Given the description of an element on the screen output the (x, y) to click on. 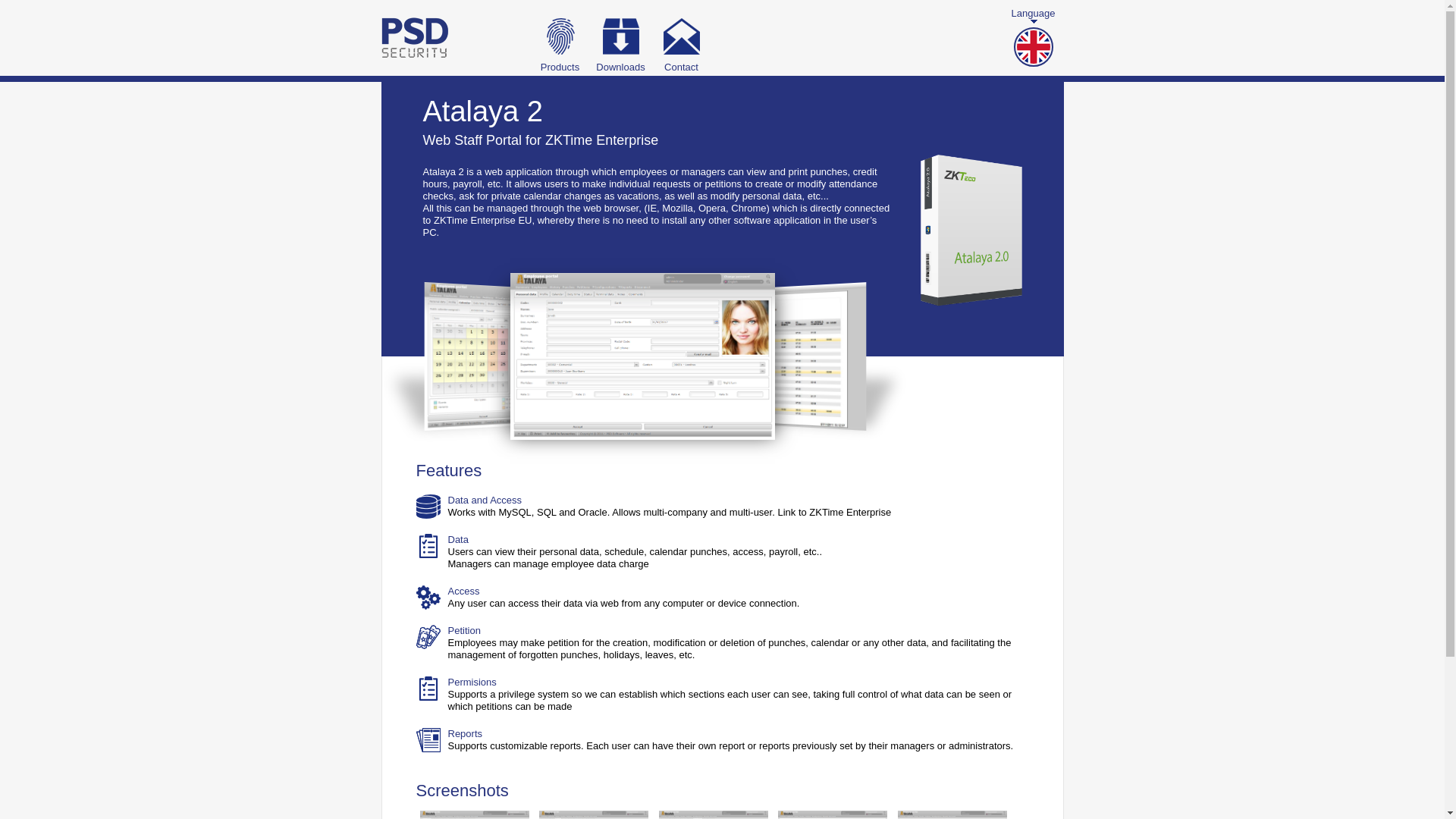
Punch management (952, 814)
Data in the terminal (713, 814)
Personal calendar (592, 814)
Employee log (831, 814)
Downloads (619, 38)
Products (559, 38)
Employee management (474, 814)
Contact (680, 38)
